Given the description of an element on the screen output the (x, y) to click on. 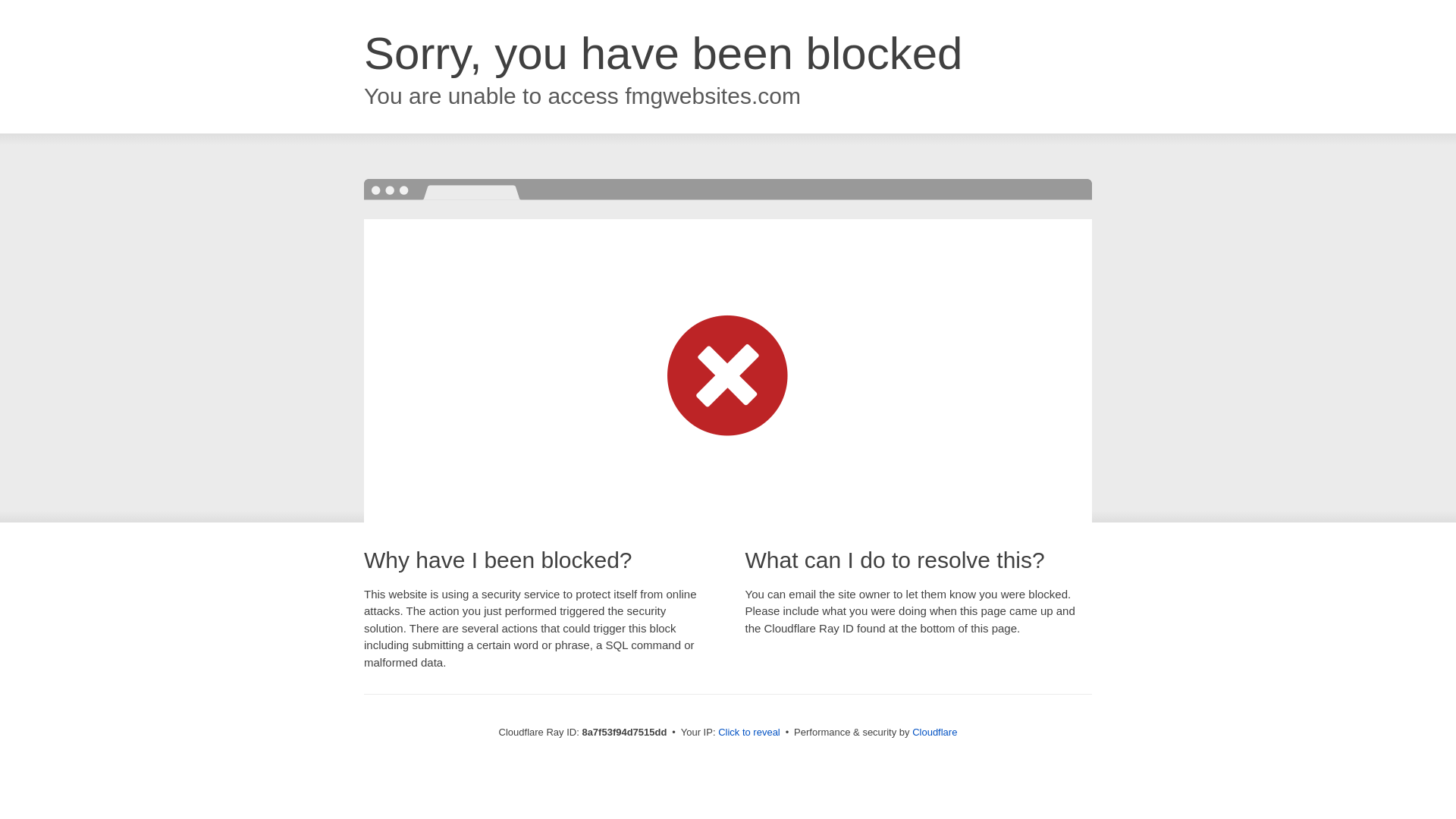
Click to reveal (748, 732)
Cloudflare (934, 731)
